Given the description of an element on the screen output the (x, y) to click on. 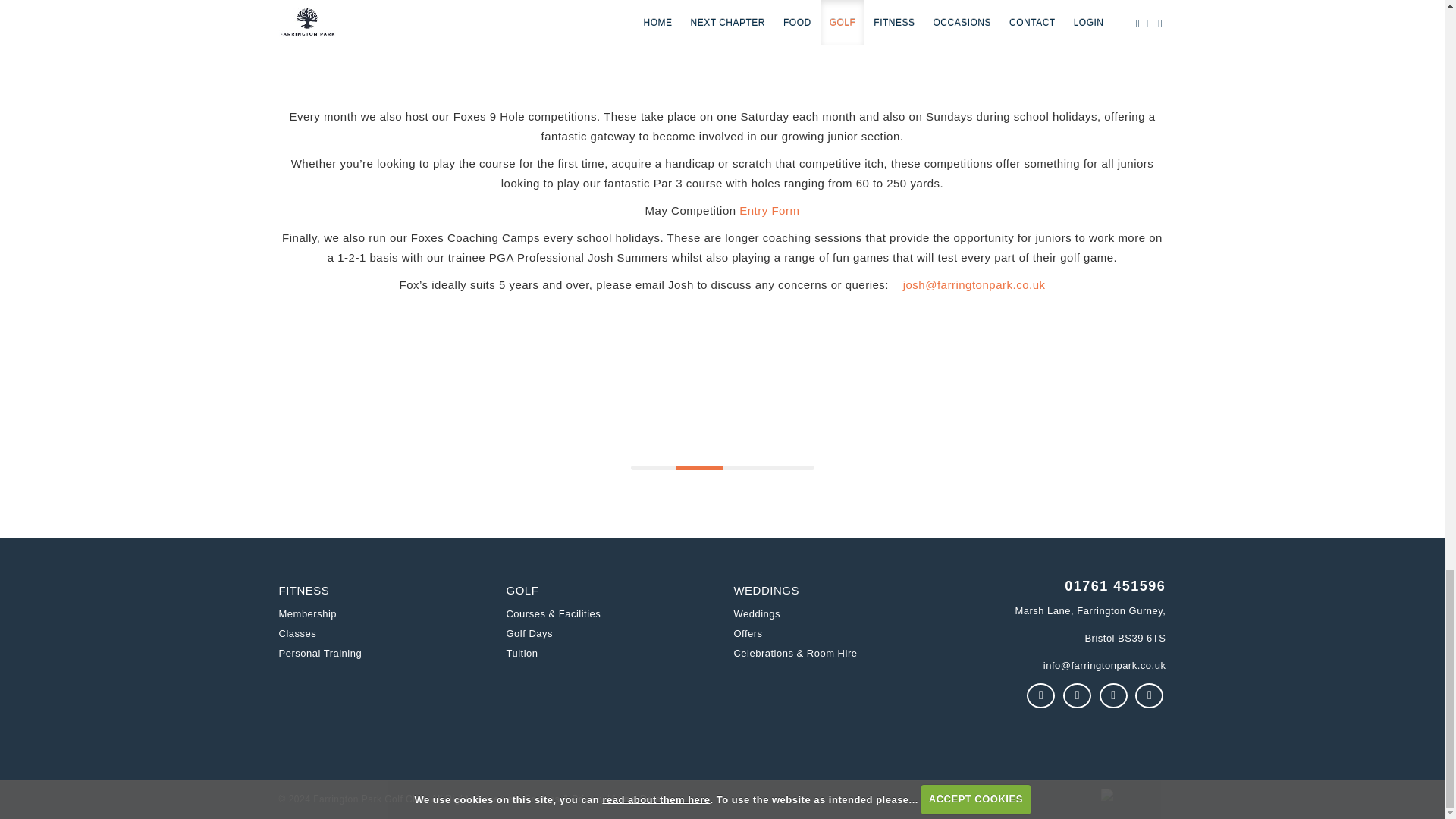
Rich Text Editor, editor5 (1063, 665)
